Given the description of an element on the screen output the (x, y) to click on. 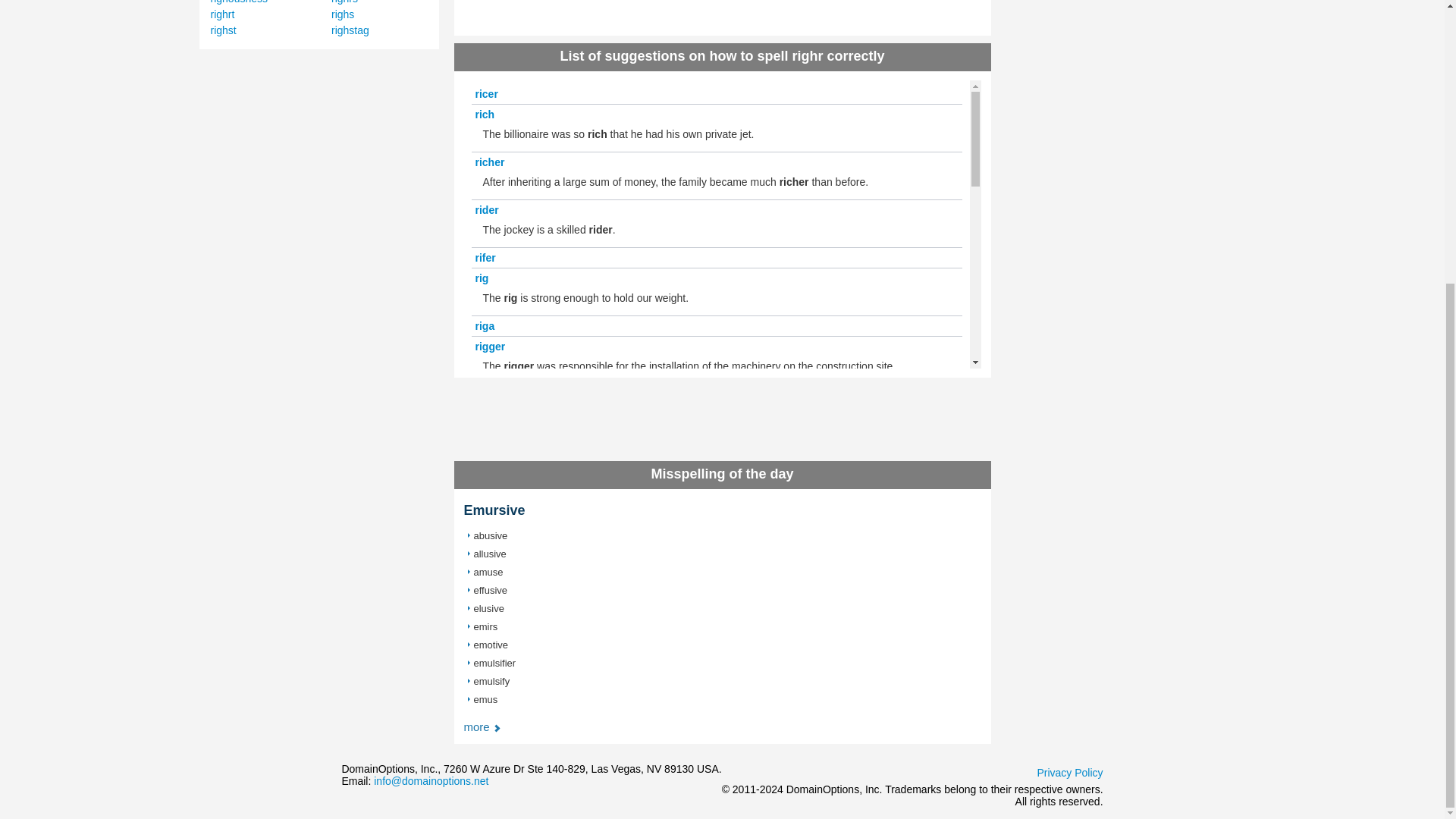
righstag (350, 30)
righousness (239, 2)
righrt (222, 14)
righrs (344, 2)
righst (223, 30)
righousness (239, 2)
righs (342, 14)
